Given the description of an element on the screen output the (x, y) to click on. 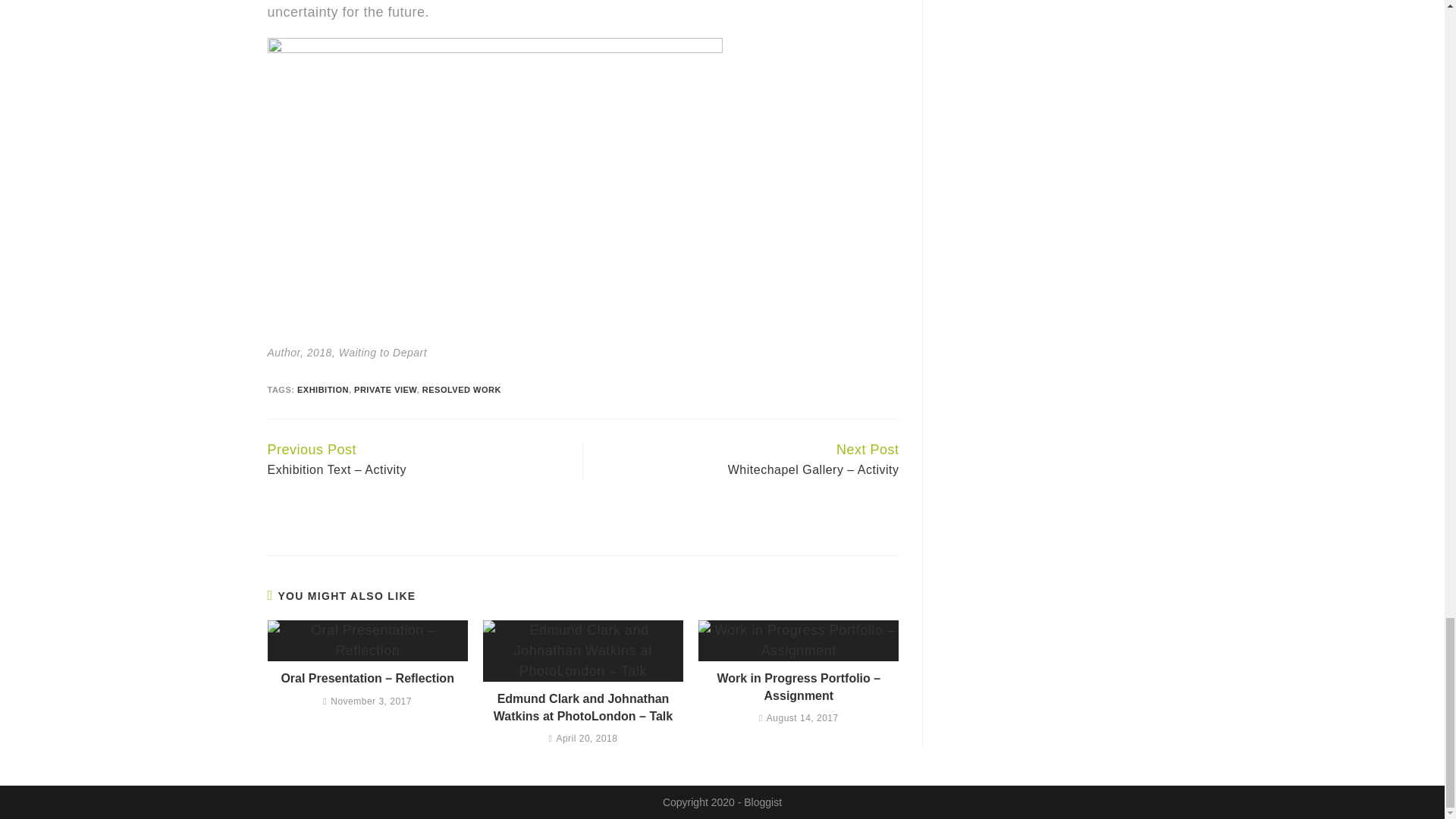
EXHIBITION (323, 388)
PRIVATE VIEW (384, 388)
RESOLVED WORK (461, 388)
